Given the description of an element on the screen output the (x, y) to click on. 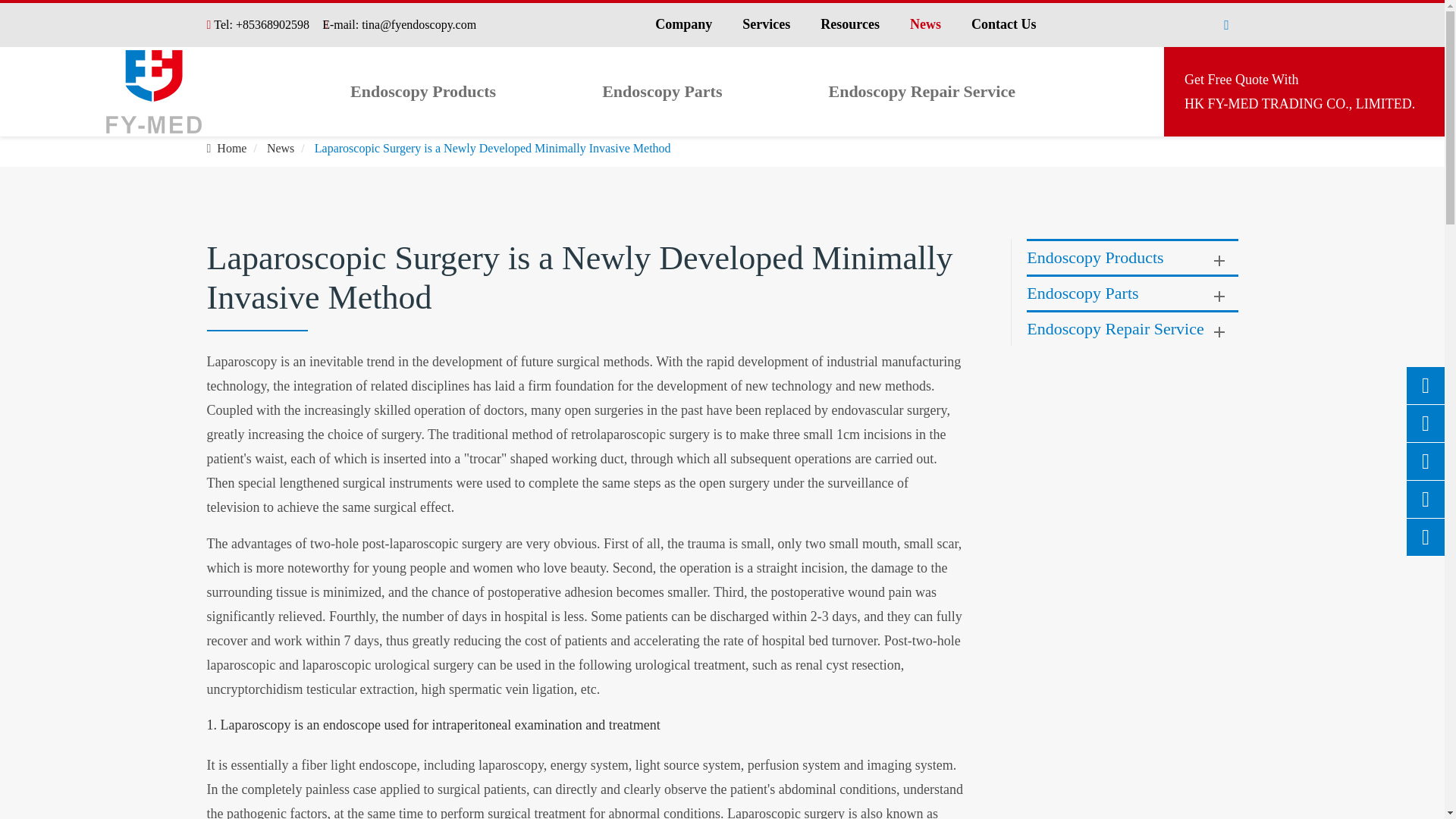
Services (766, 25)
submit (1162, 146)
News (1300, 91)
Contact Us (280, 147)
Resources (1003, 25)
Endoscopy Repair Service (850, 25)
Endoscopy Products (921, 91)
News (423, 91)
HK FY-MED TRADING CO., LIMITED. (925, 25)
Endoscopy Parts (154, 91)
Company (662, 91)
